Given the description of an element on the screen output the (x, y) to click on. 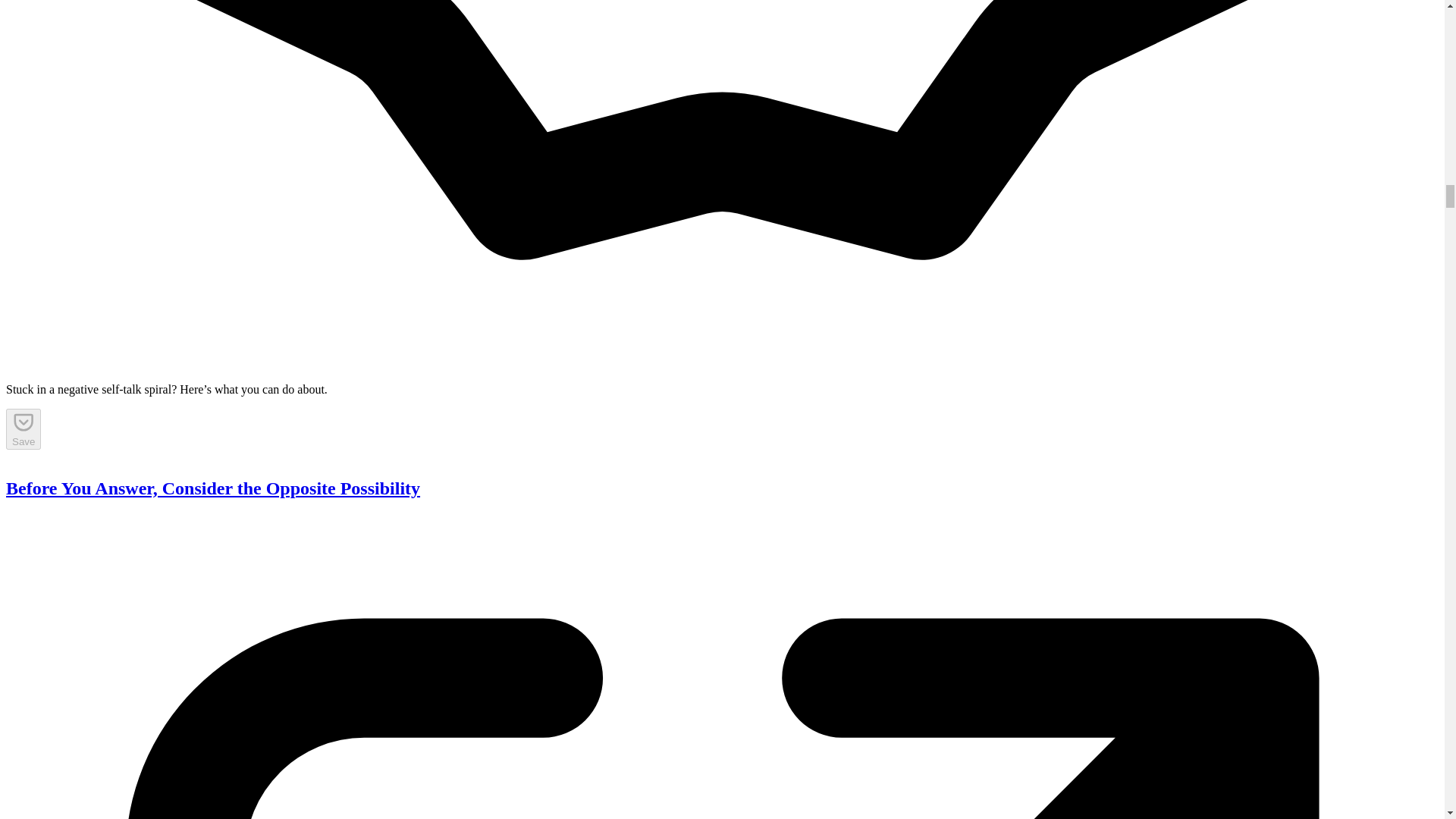
Save (22, 428)
Before You Answer, Consider the Opposite Possibility (212, 487)
